Given the description of an element on the screen output the (x, y) to click on. 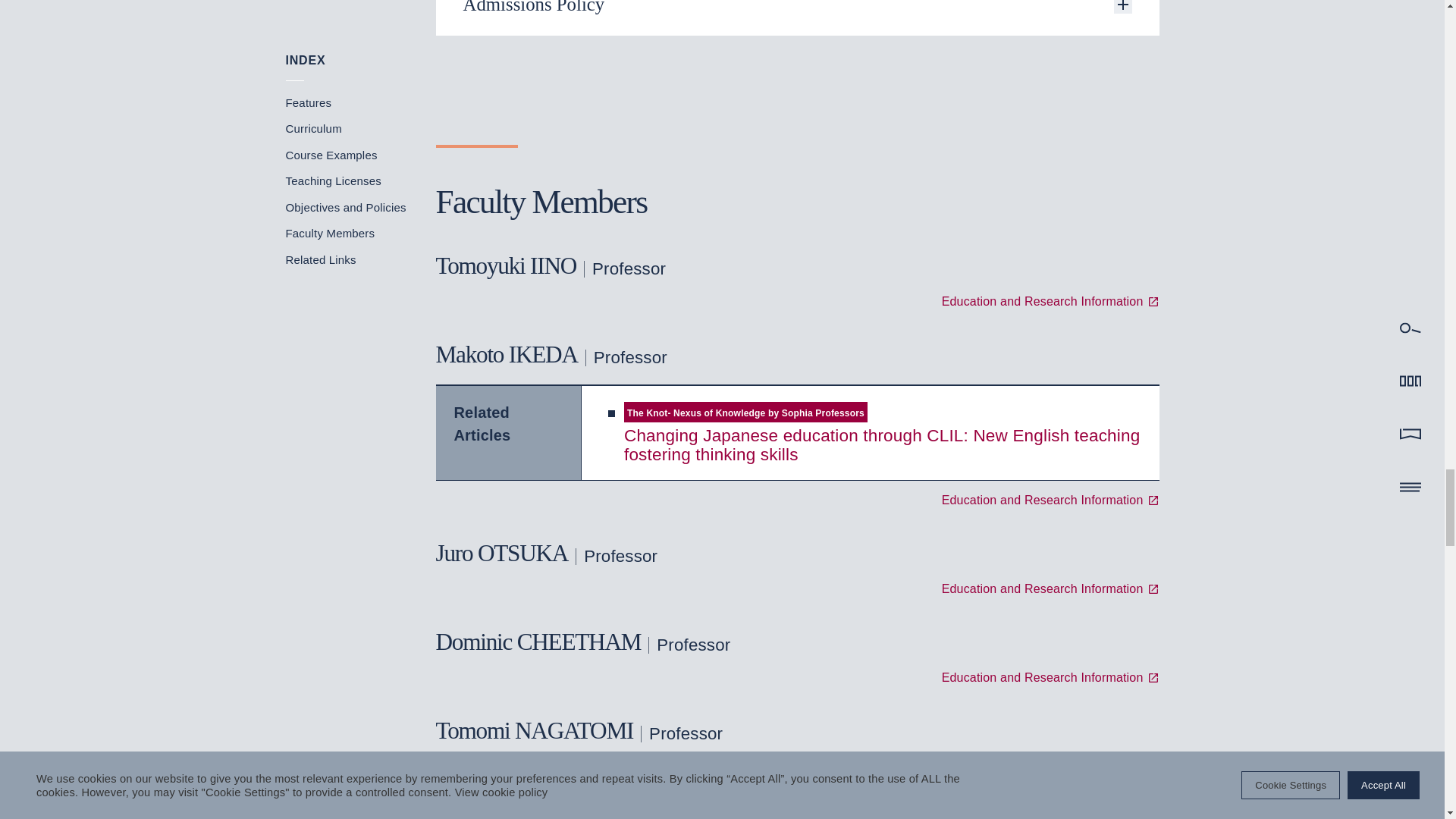
Admissions Policy (796, 18)
Education and Research Information (1050, 301)
Education and Research Information (1050, 677)
Education and Research Information (1050, 766)
Education and Research Information (1050, 589)
Education and Research Information (1050, 500)
